Given the description of an element on the screen output the (x, y) to click on. 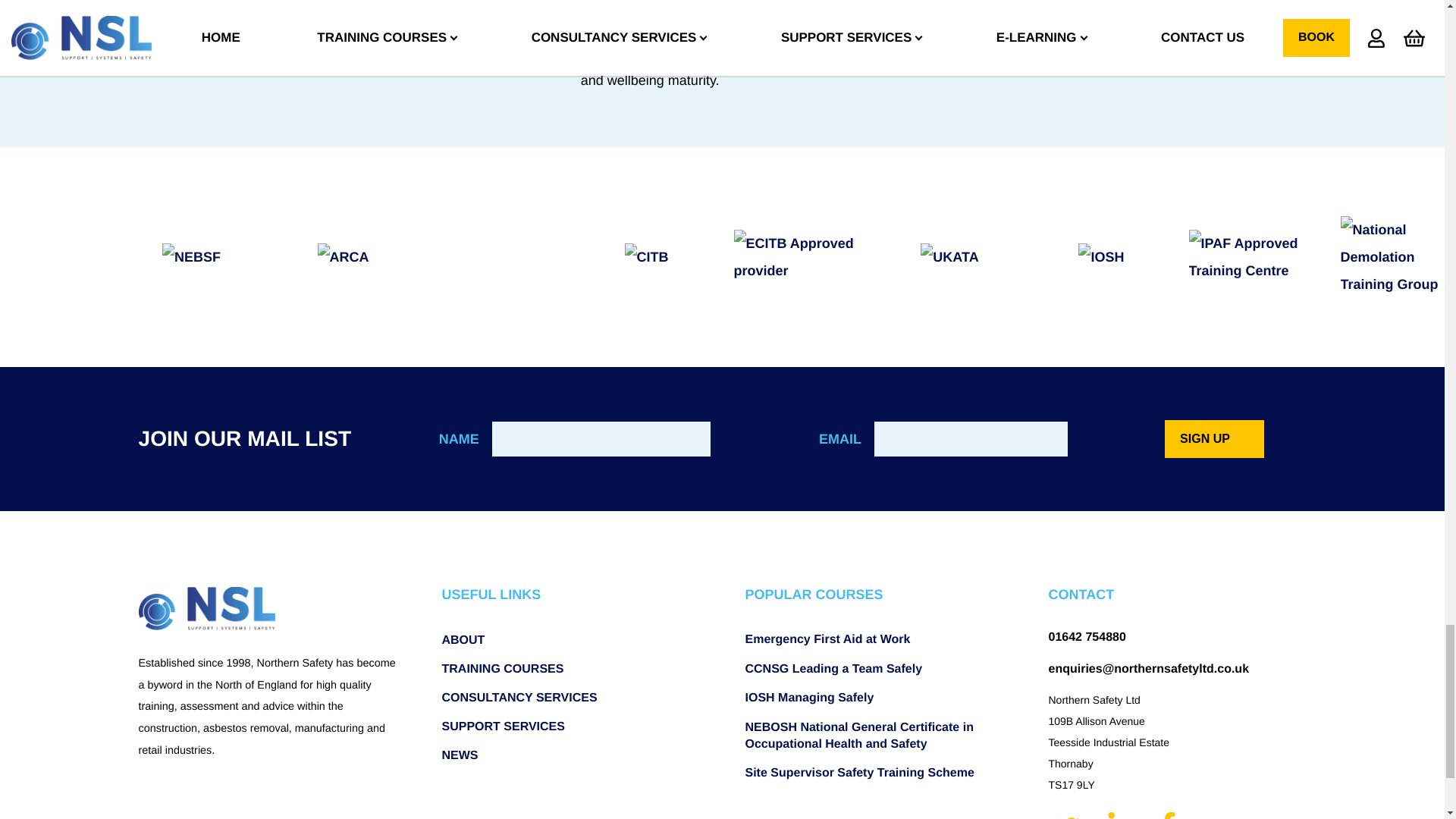
LinkedIn (1120, 812)
Sign up (1213, 438)
Facebook (1166, 812)
Twitter (1068, 812)
